Given the description of an element on the screen output the (x, y) to click on. 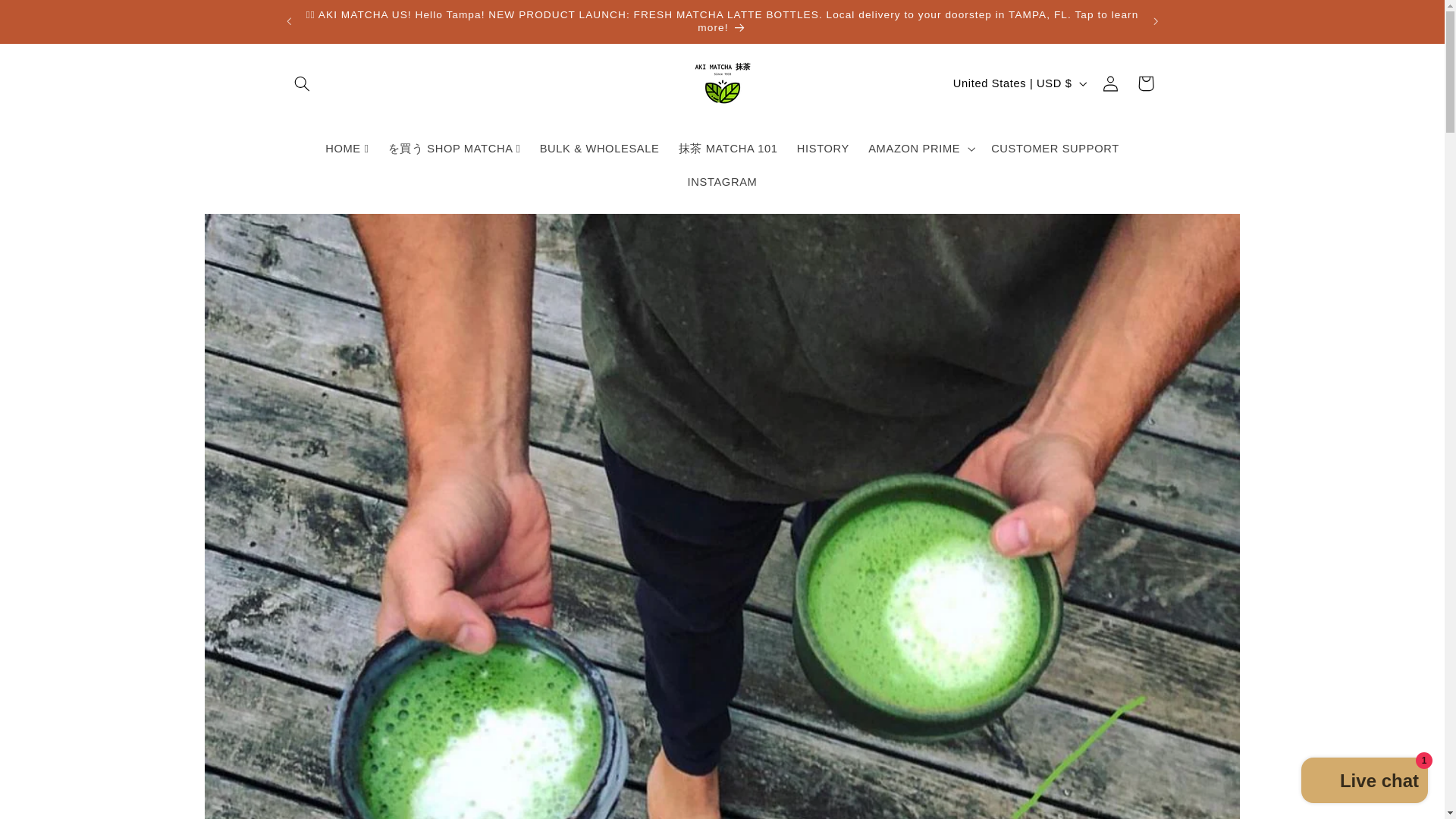
HISTORY (823, 148)
Shopify online store chat (1364, 781)
CUSTOMER SUPPORT (1055, 148)
Skip to content (48, 18)
INSTAGRAM (722, 182)
